Given the description of an element on the screen output the (x, y) to click on. 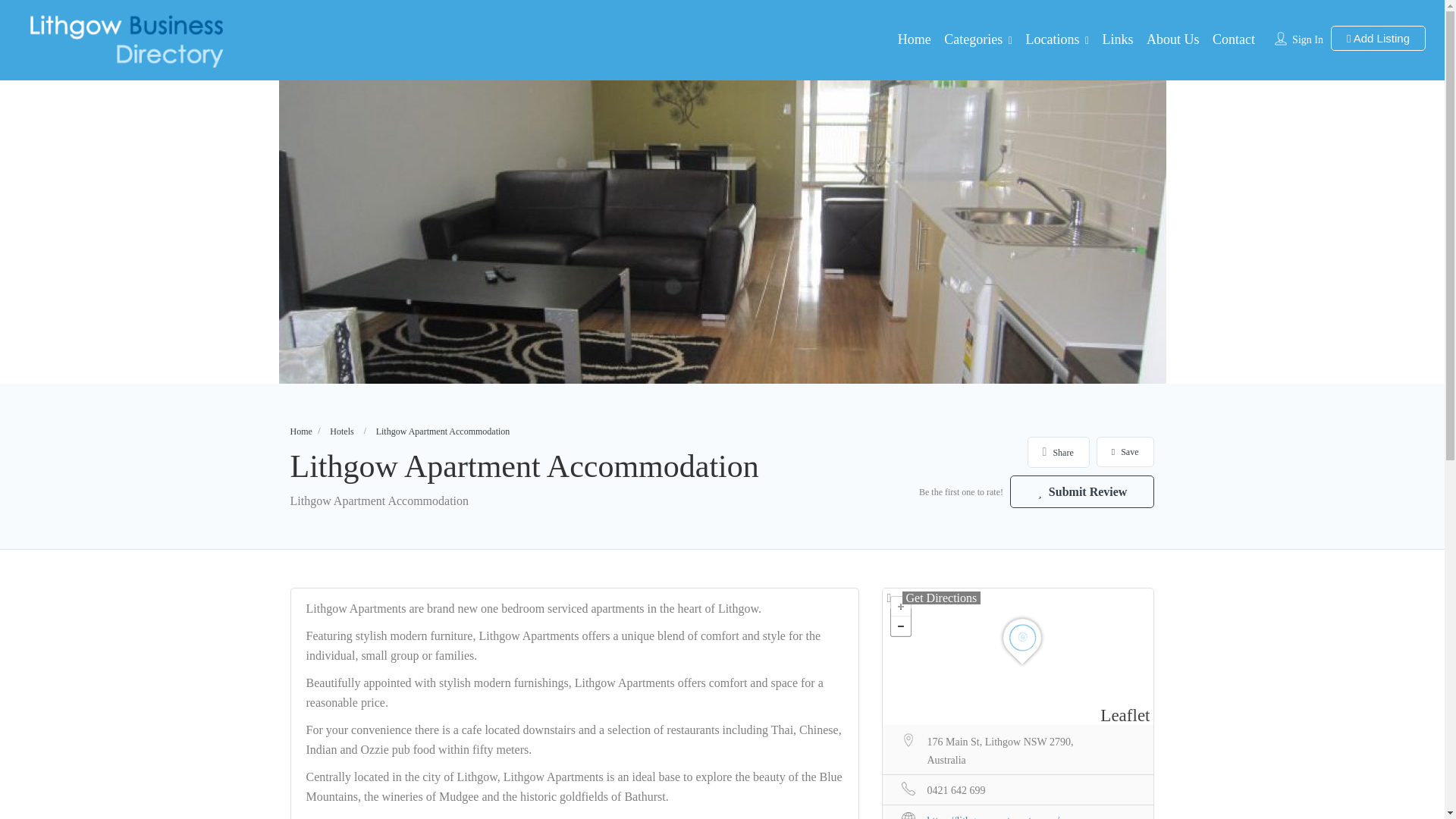
Home (914, 38)
Submit (413, 503)
Contact (1233, 38)
Sign In (1307, 39)
Links (1118, 38)
About Us (1173, 38)
Categories (973, 38)
Zoom in (899, 606)
Add Listing (1377, 37)
Locations (1051, 38)
Zoom out (899, 626)
A JS library for interactive maps (1125, 714)
